Given the description of an element on the screen output the (x, y) to click on. 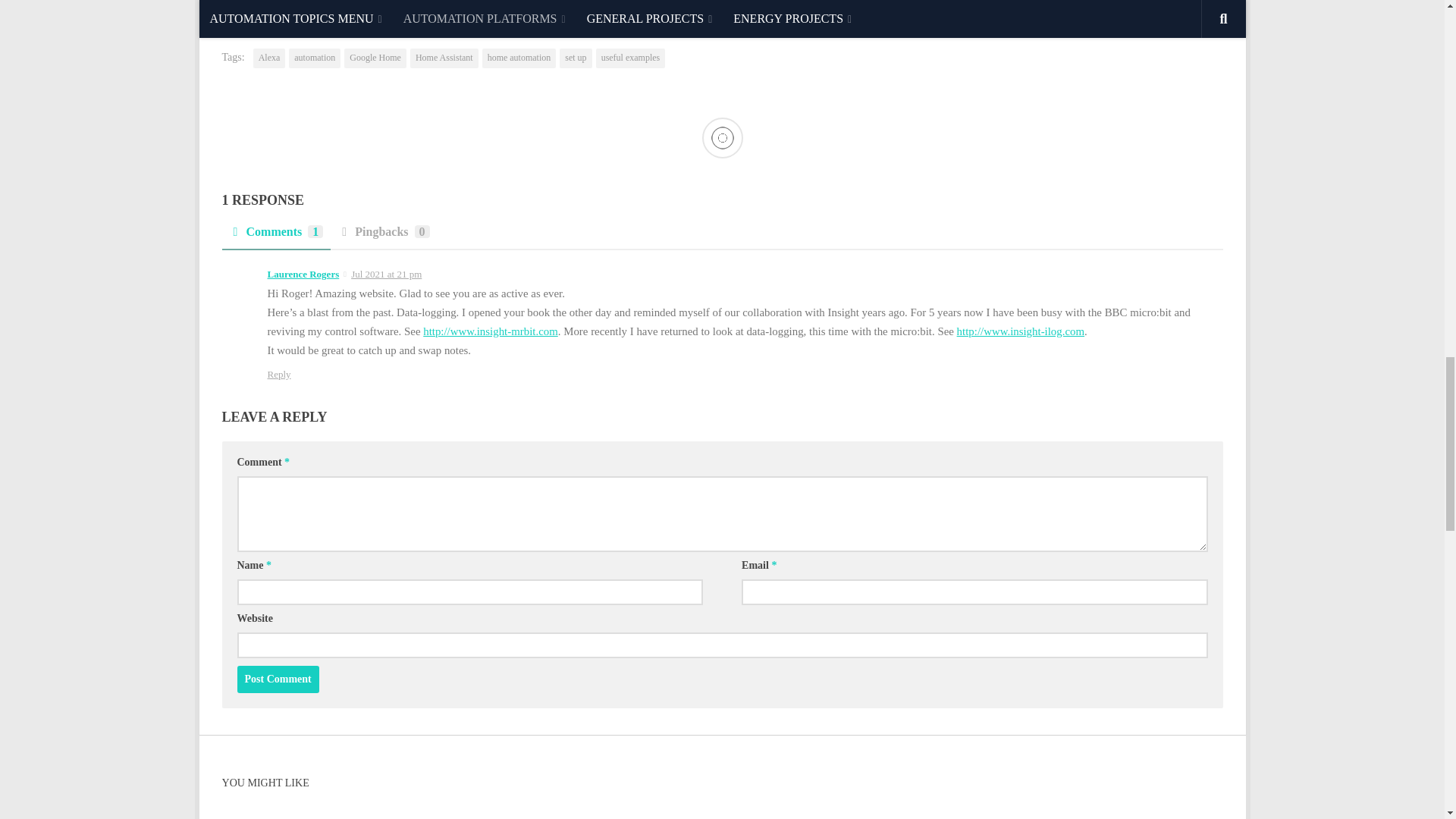
Post Comment (276, 678)
